Given the description of an element on the screen output the (x, y) to click on. 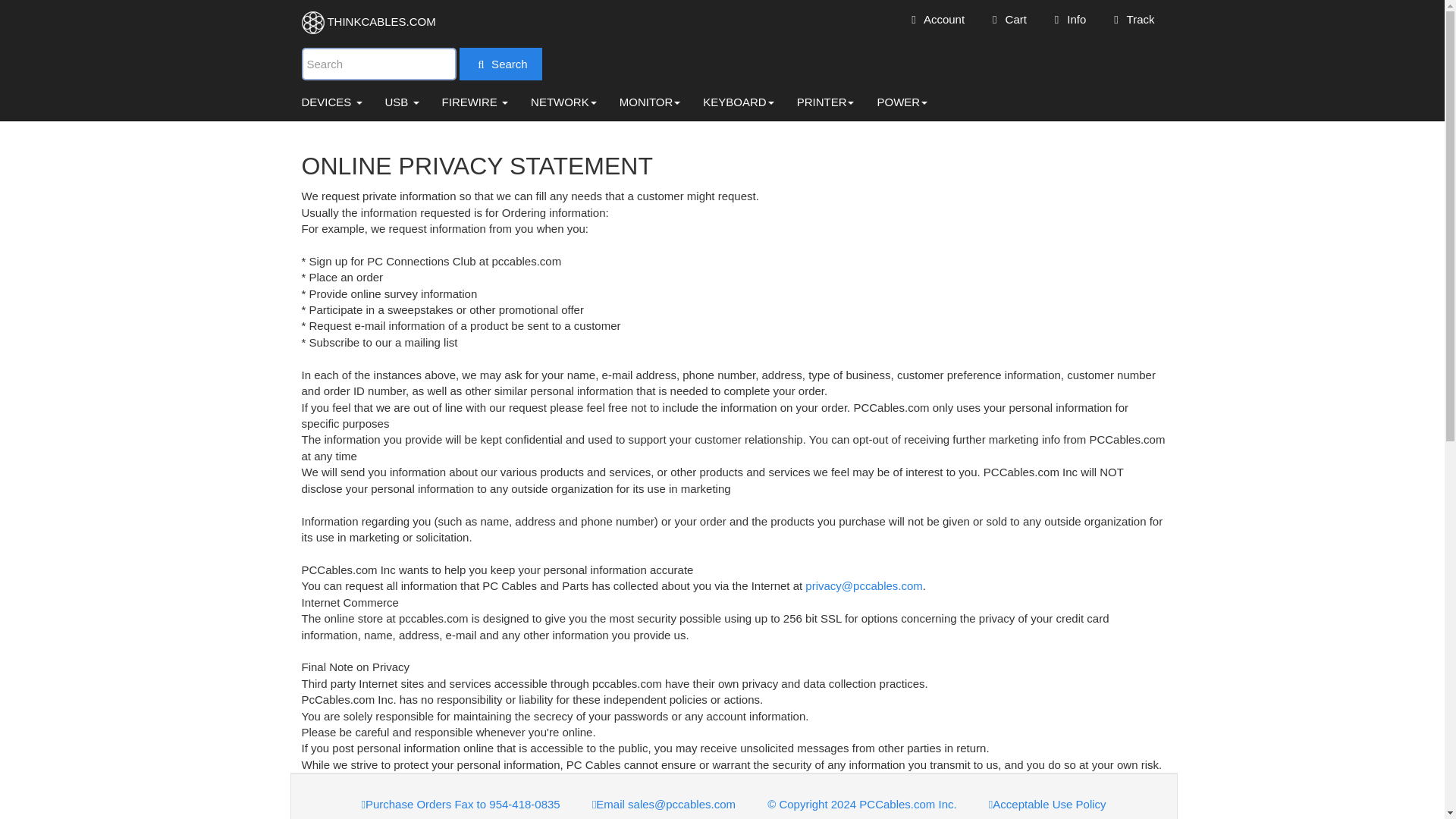
Search (500, 62)
Account (935, 18)
DEVICES (330, 101)
MONITOR (650, 101)
NETWORK (563, 101)
Track (1131, 18)
Cart (1006, 18)
THINKCABLES.COM (367, 22)
Info (1067, 18)
FIREWIRE (474, 101)
